Given the description of an element on the screen output the (x, y) to click on. 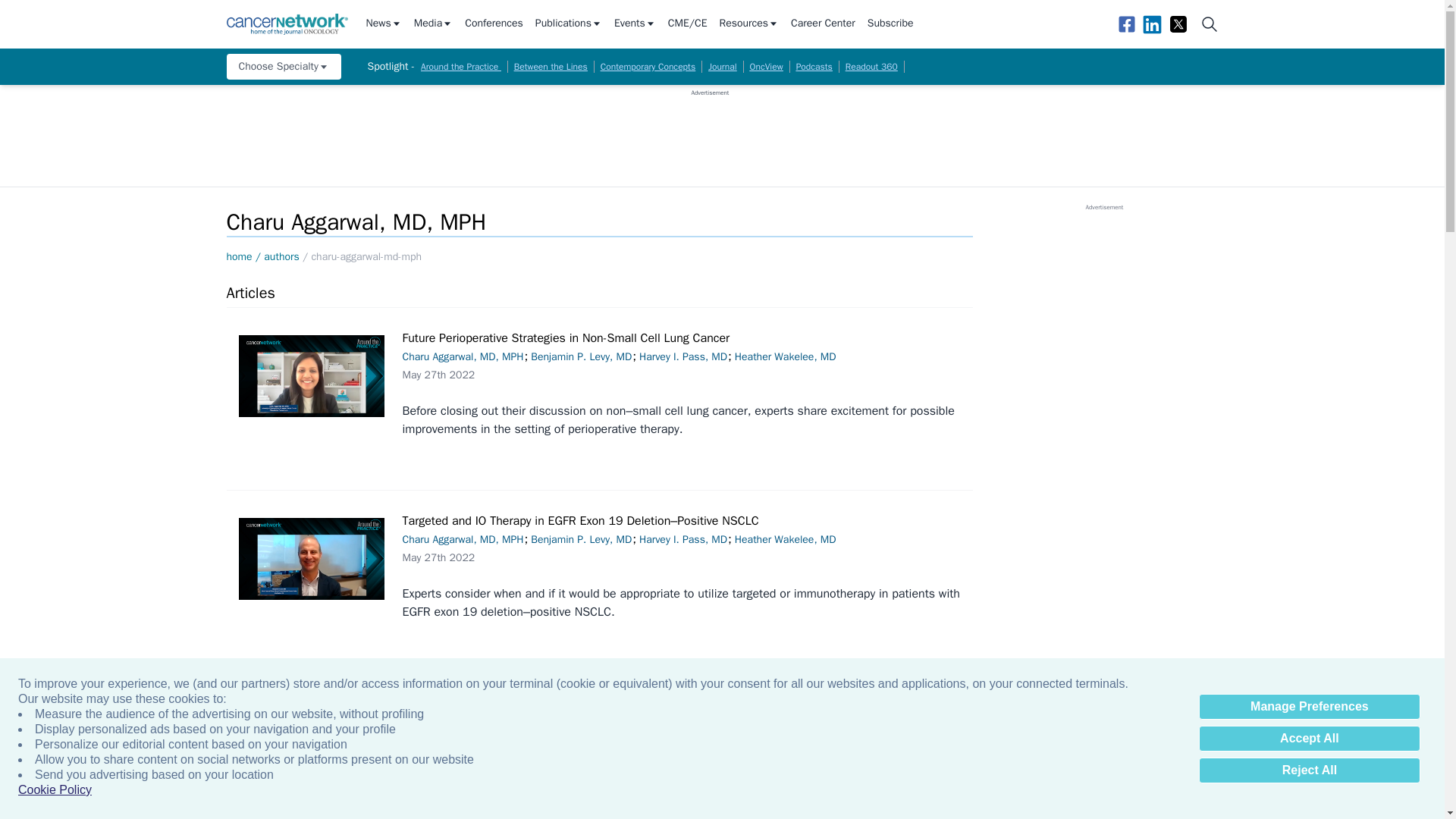
Accept All (1309, 738)
News (383, 23)
Publications (568, 23)
Media (432, 23)
3rd party ad content (709, 131)
Cookie Policy (54, 789)
Events (635, 23)
Conferences (493, 23)
Manage Preferences (1309, 706)
Expert on NSCLC (311, 375)
Reject All (1309, 769)
Expert on NSCLC (311, 741)
Expert on NSCLC (311, 558)
